Given the description of an element on the screen output the (x, y) to click on. 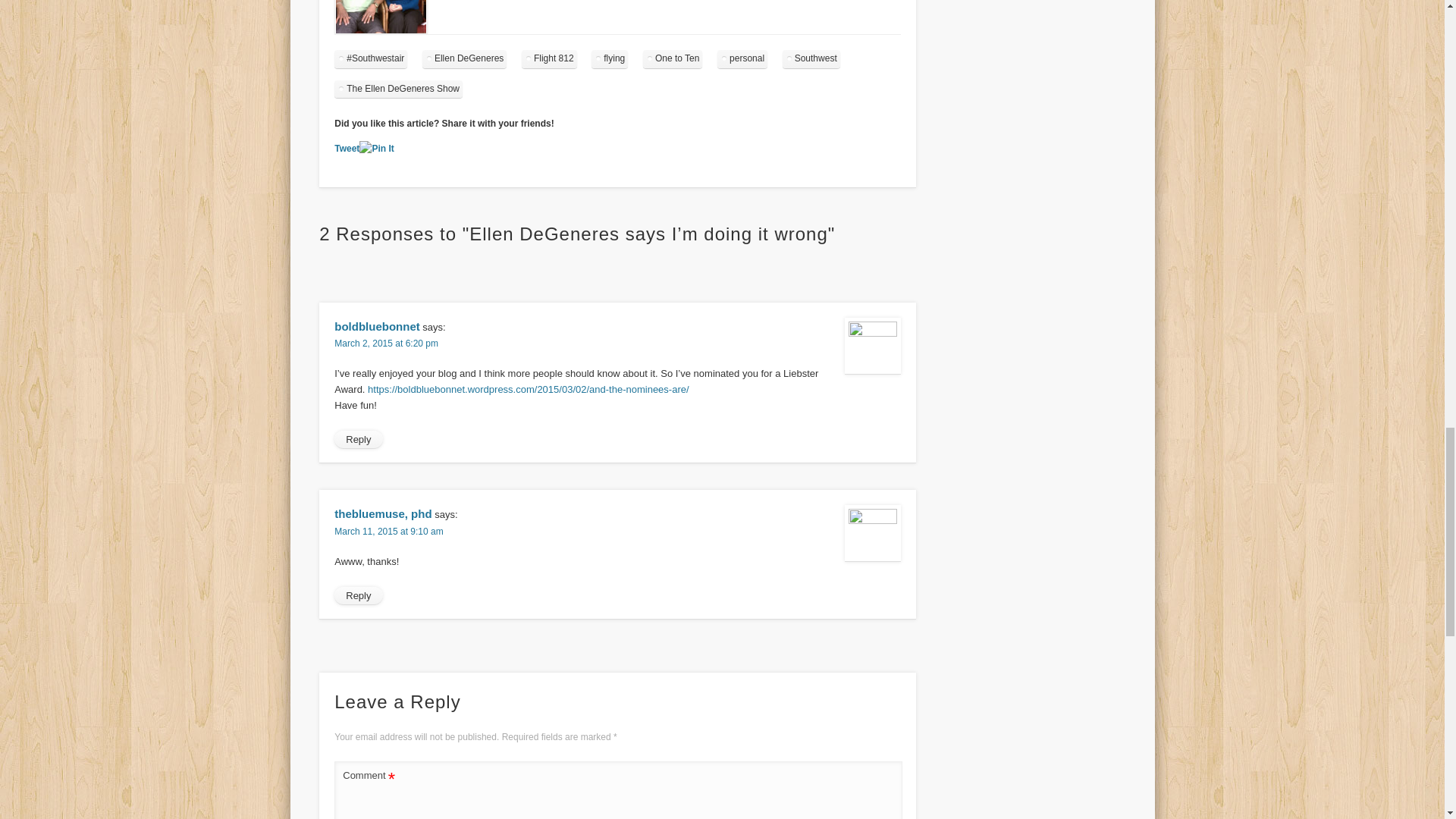
One to Ten (673, 58)
Southwest (811, 58)
Tweet (346, 148)
flying (609, 58)
The Ellen DeGeneres Show (398, 88)
boldbluebonnet (376, 326)
Flight 812 (548, 58)
personal (742, 58)
Ellen DeGeneres (464, 58)
Pin It (376, 148)
